Given the description of an element on the screen output the (x, y) to click on. 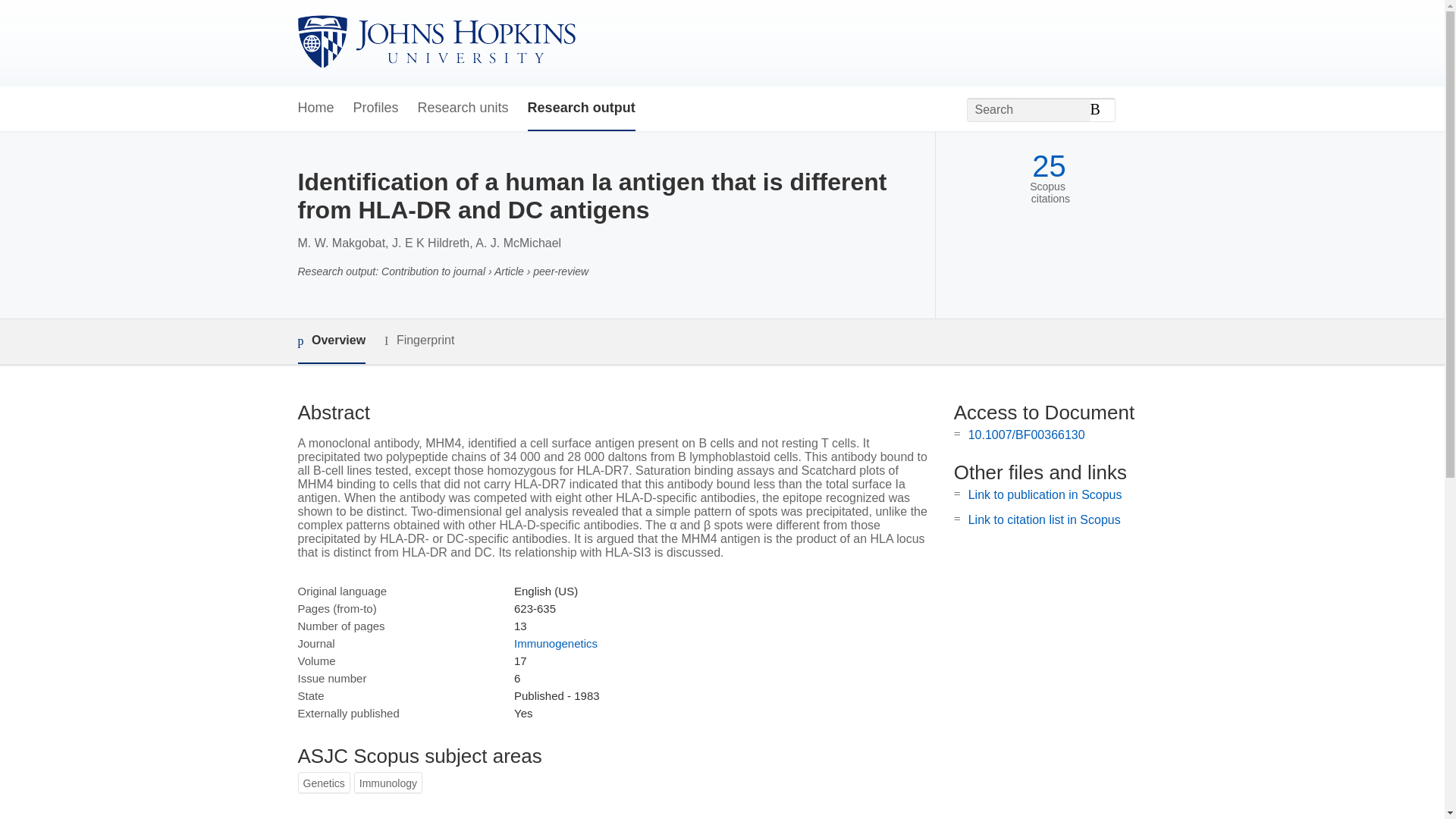
Overview (331, 341)
Link to citation list in Scopus (1044, 519)
Fingerprint (419, 340)
25 (1048, 166)
Profiles (375, 108)
Research units (462, 108)
Immunogenetics (554, 643)
Link to publication in Scopus (1045, 494)
Johns Hopkins University Home (436, 43)
Research output (580, 108)
